Given the description of an element on the screen output the (x, y) to click on. 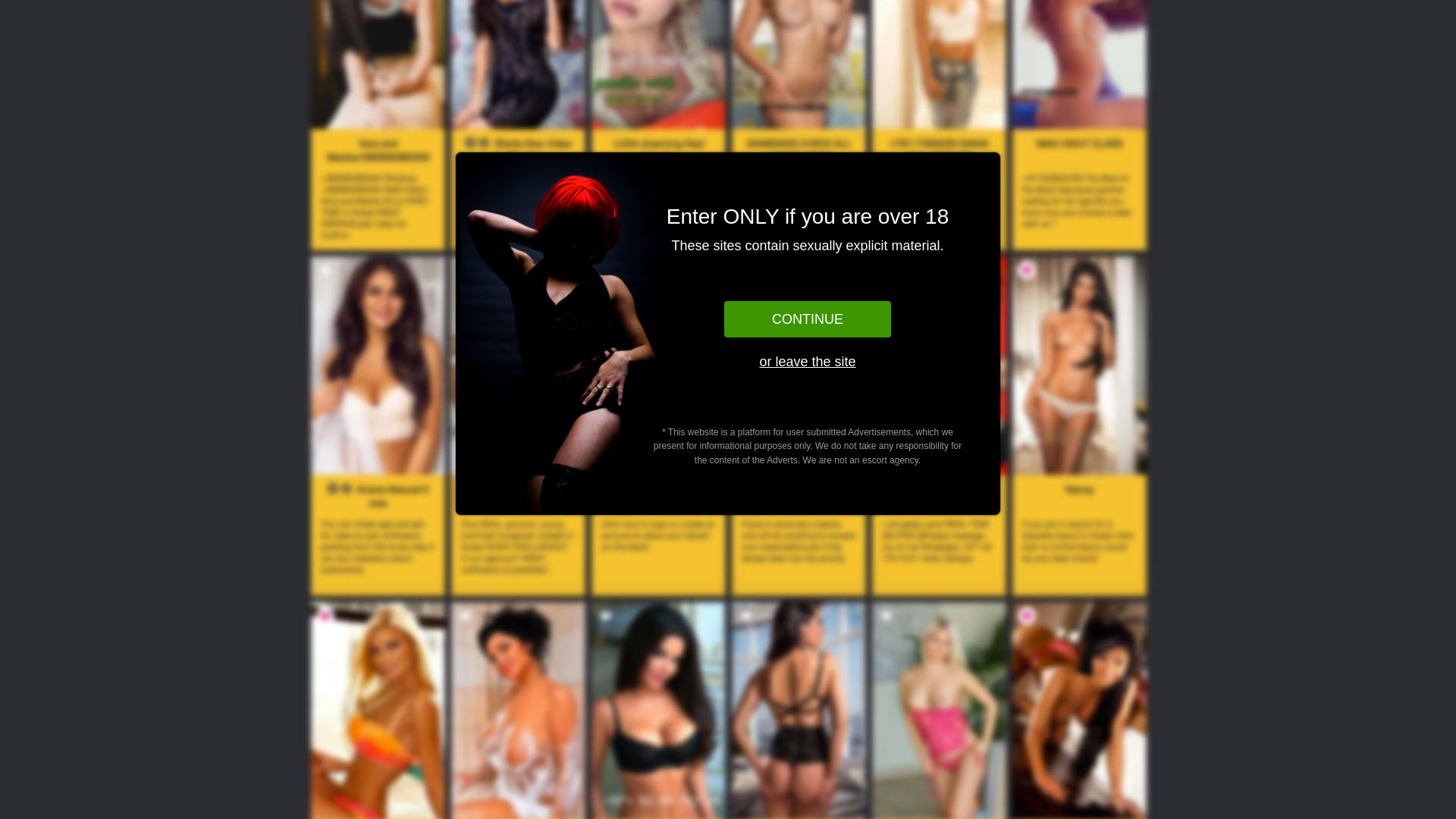
Rose Element type: text (376, 437)
JOIN SEX CLINIC Element type: text (938, 93)
Maria +971501706905 Element type: text (517, 444)
or leave the site Element type: text (807, 362)
ok Element type: text (11, 25)
NADINE ALLINCLUDE DOWNTOWN Element type: text (517, 797)
Nadine Element type: text (797, 783)
JulianaPortman Element type: text (1078, 790)
FRESH Face In Dubai Element type: text (938, 437)
30+ Hot Girls 24 7 Element type: text (657, 437)
JANNET YOUR SEXY EXPECTATIONS Element type: text (377, 797)
Alexa Element type: text (798, 437)
MaryjaneBenett Element type: text (1078, 444)
CONTINUE Element type: text (807, 319)
We treat your dick and soul! Element type: text (517, 93)
DUBAI
LoveHUB.com Element type: text (73, 22)
Anna Element type: text (657, 790)
BERTA-TEENAGER -HIGH CLASS-NEW Element type: text (938, 797)
